Given the description of an element on the screen output the (x, y) to click on. 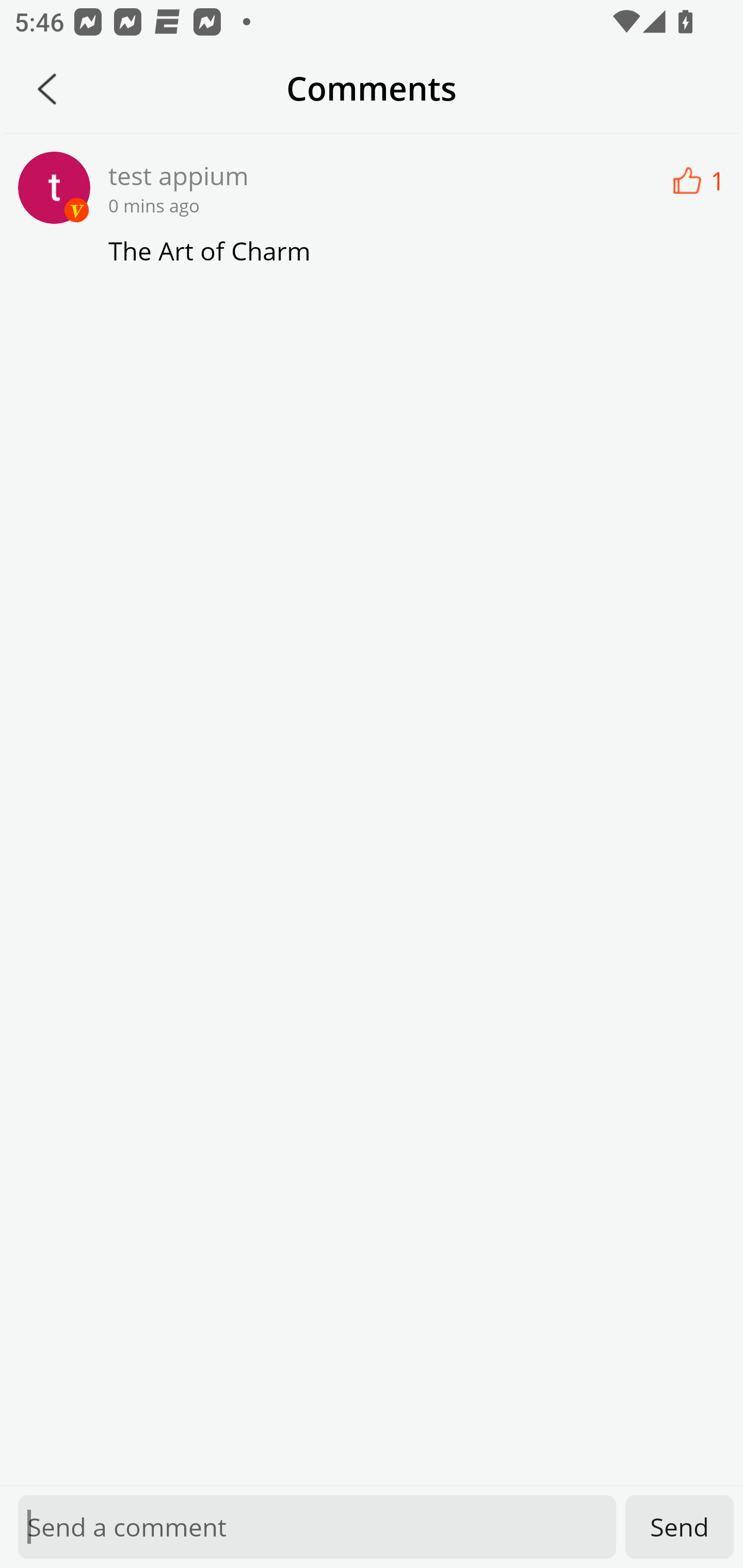
Back (46, 88)
Send a comment (316, 1526)
Send (679, 1526)
